Given the description of an element on the screen output the (x, y) to click on. 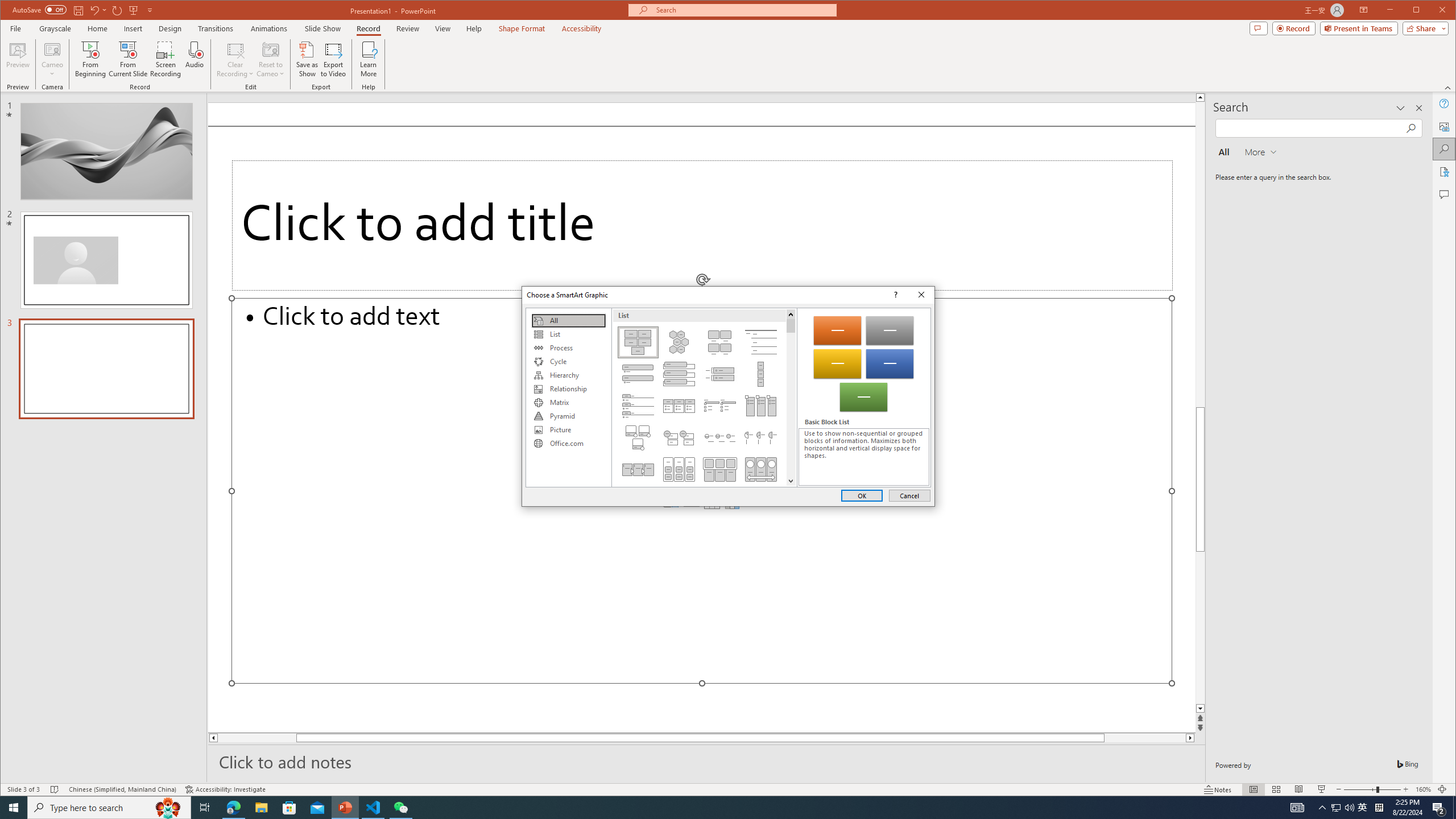
WeChat - 1 running window (400, 807)
Bending Picture Accent List (637, 437)
Basic Block List (637, 342)
Maximize (1432, 11)
Varying Width List (761, 373)
Class: NetUITextbox (862, 456)
Horizontal Picture List (719, 469)
